Given the description of an element on the screen output the (x, y) to click on. 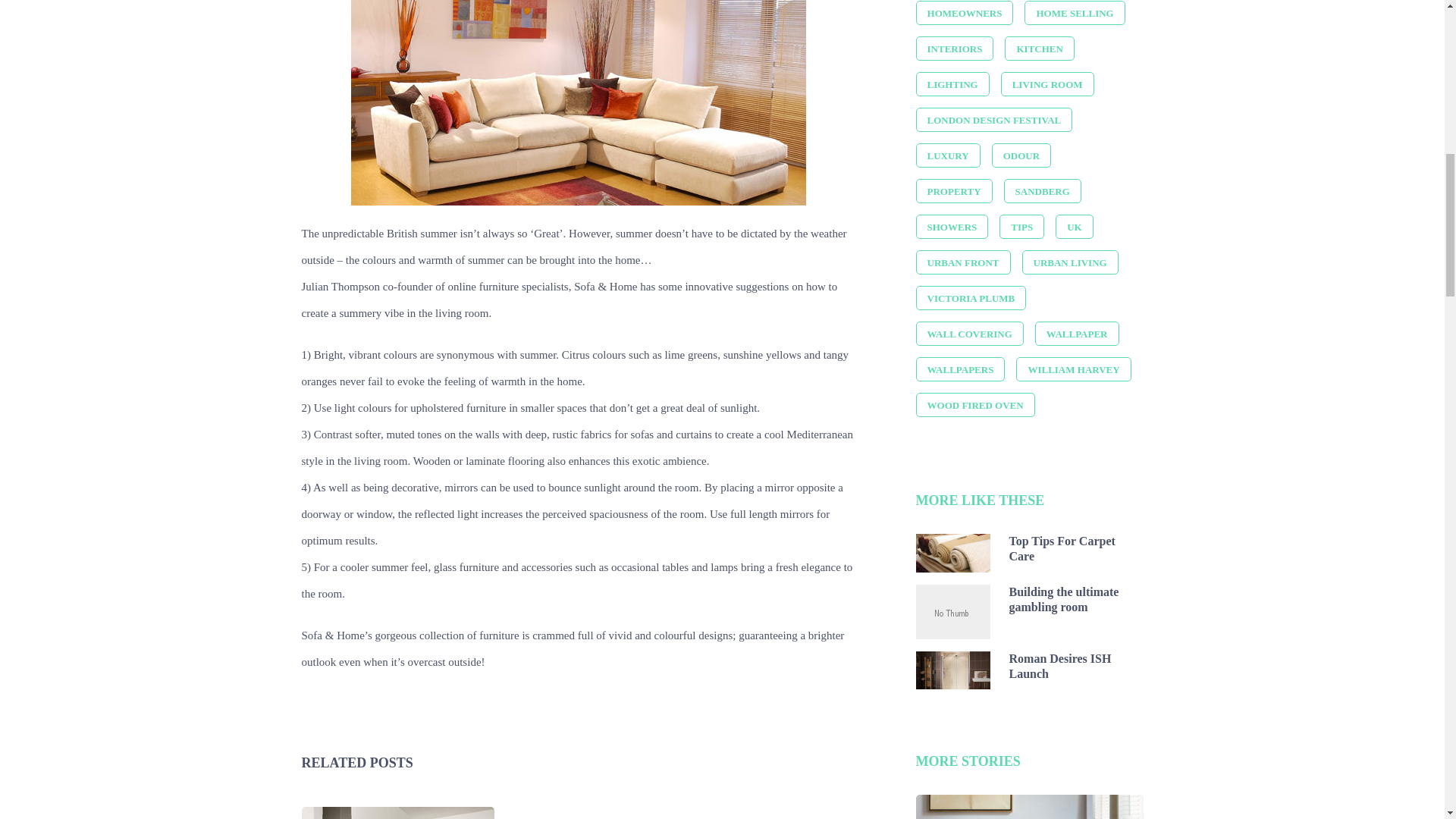
Sub-Zero And Wolf At LivingKitchen Fair (398, 812)
Urbino (577, 102)
